Given the description of an element on the screen output the (x, y) to click on. 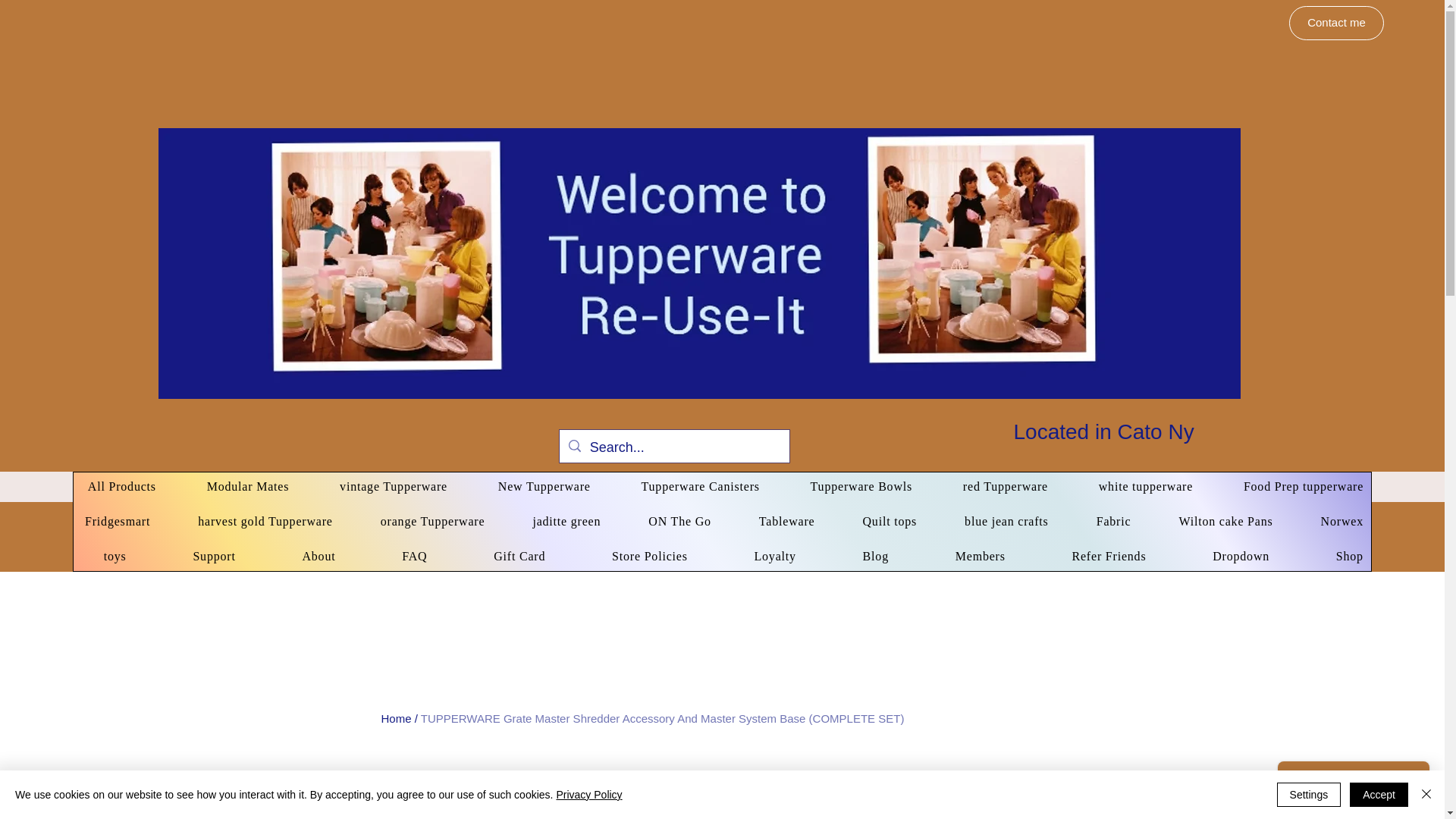
Tableware (785, 521)
white tupperware (1141, 486)
Tupperware Canisters (697, 486)
Blog (864, 556)
Norwex (1339, 521)
All Products (118, 486)
Refer Friends (1098, 556)
Shop (1338, 556)
Home (395, 717)
jaditte green (564, 521)
vintage Tupperware (389, 486)
Contact me (1336, 22)
blue jean crafts (1005, 521)
Members (968, 556)
orange Tupperware (431, 521)
